Given the description of an element on the screen output the (x, y) to click on. 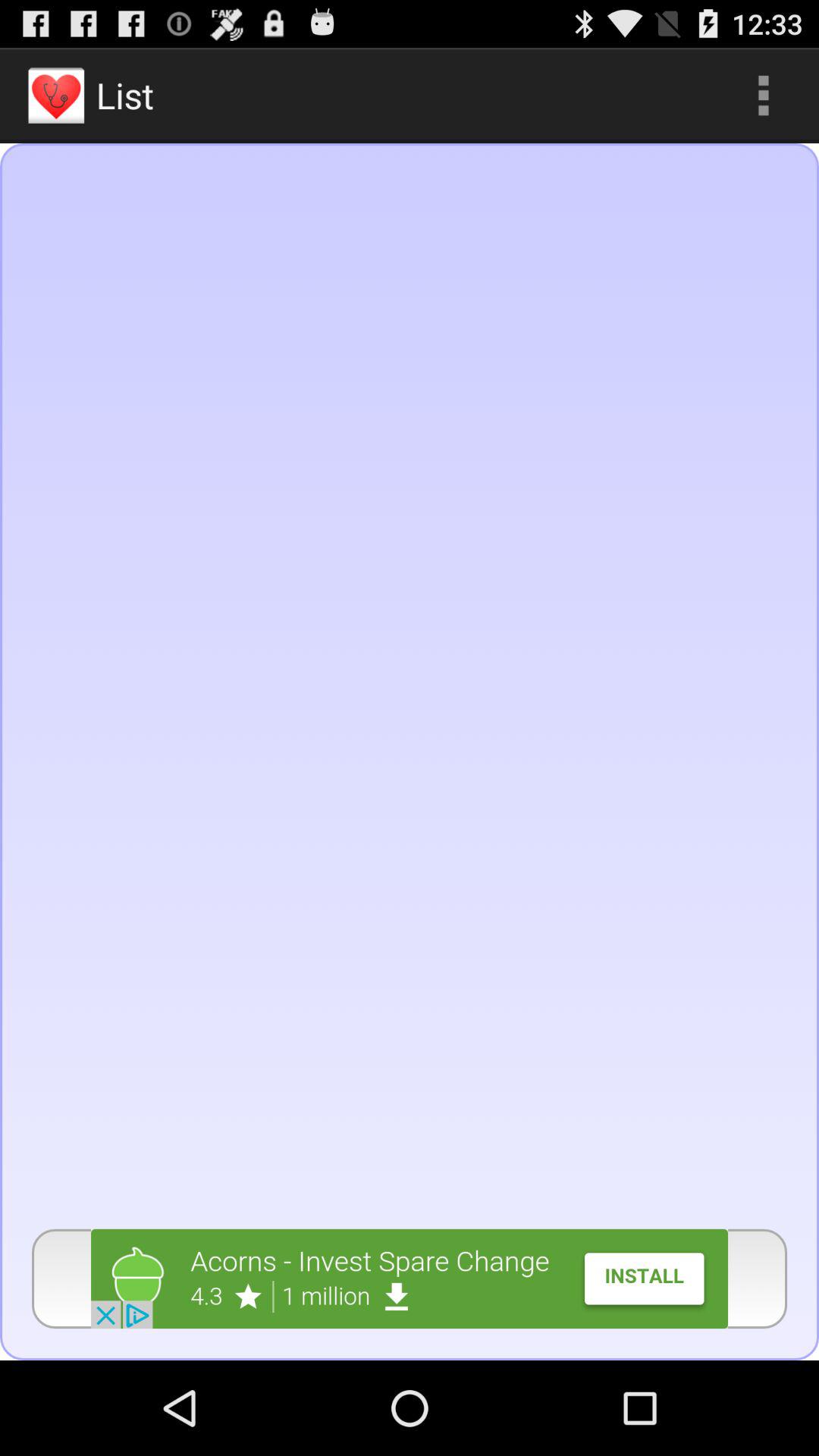
install the app (409, 1278)
